Given the description of an element on the screen output the (x, y) to click on. 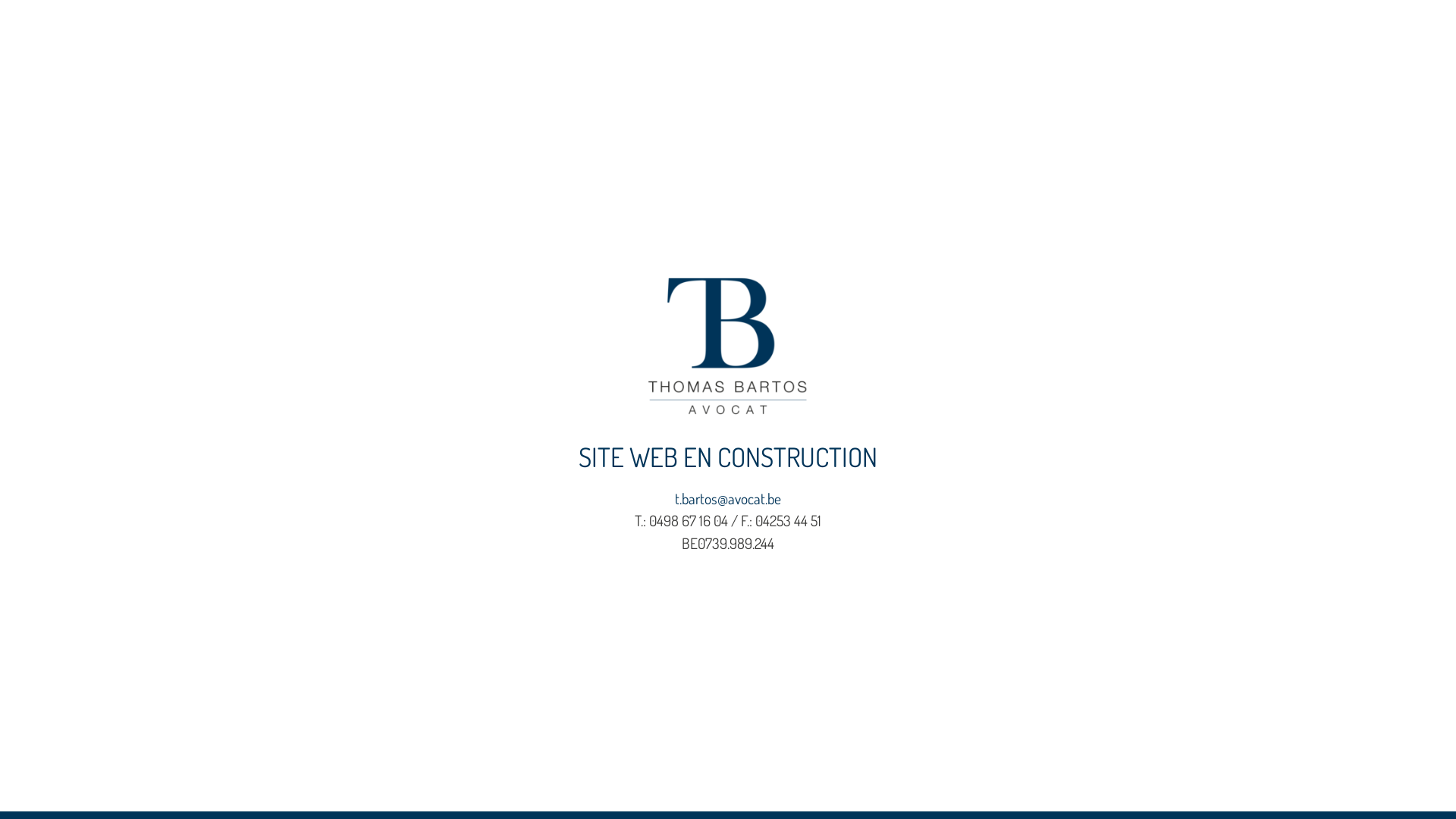
t.bartos@avocat.be Element type: text (727, 498)
